Given the description of an element on the screen output the (x, y) to click on. 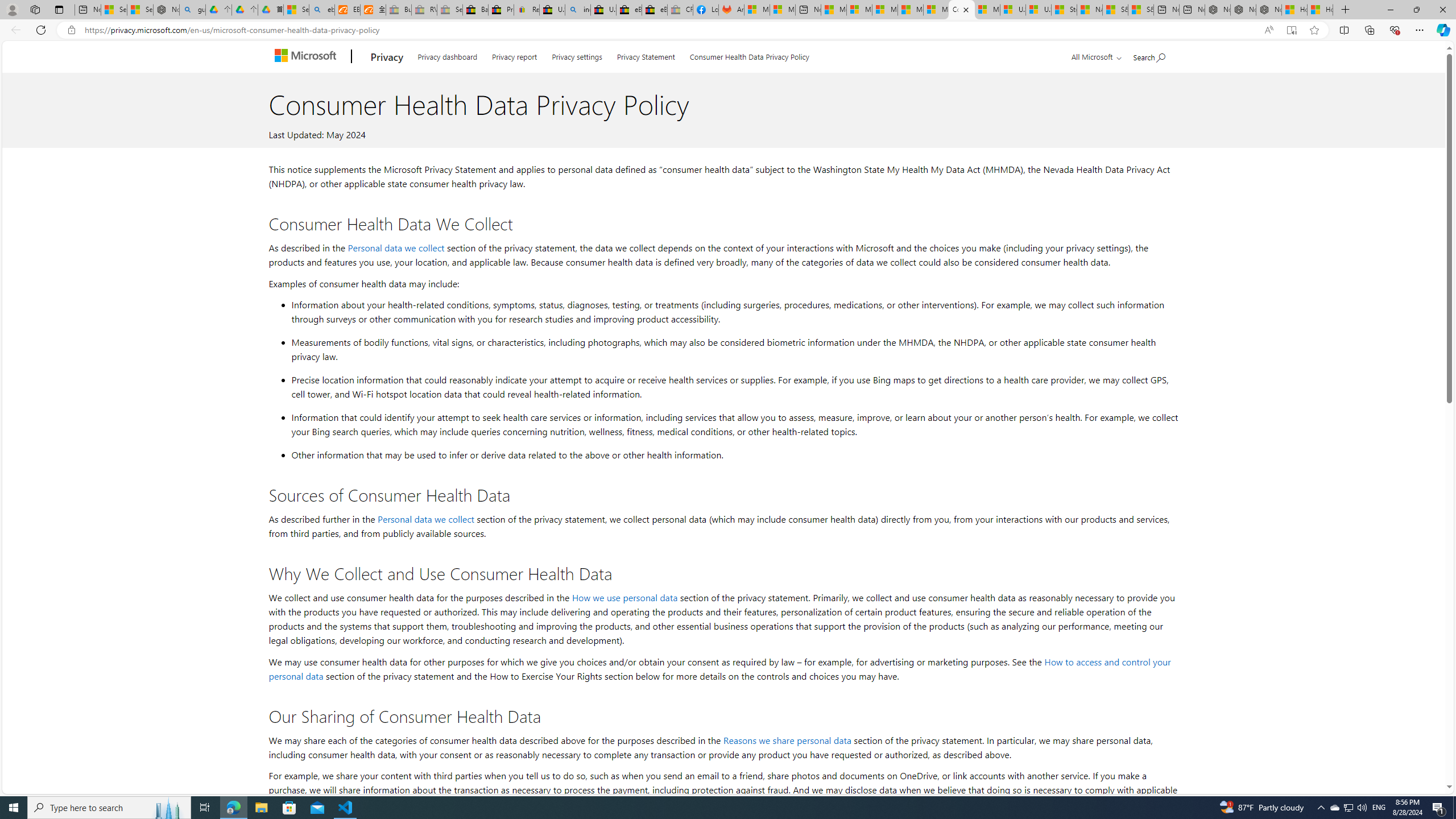
Register: Create a personal eBay account (526, 9)
